Given the description of an element on the screen output the (x, y) to click on. 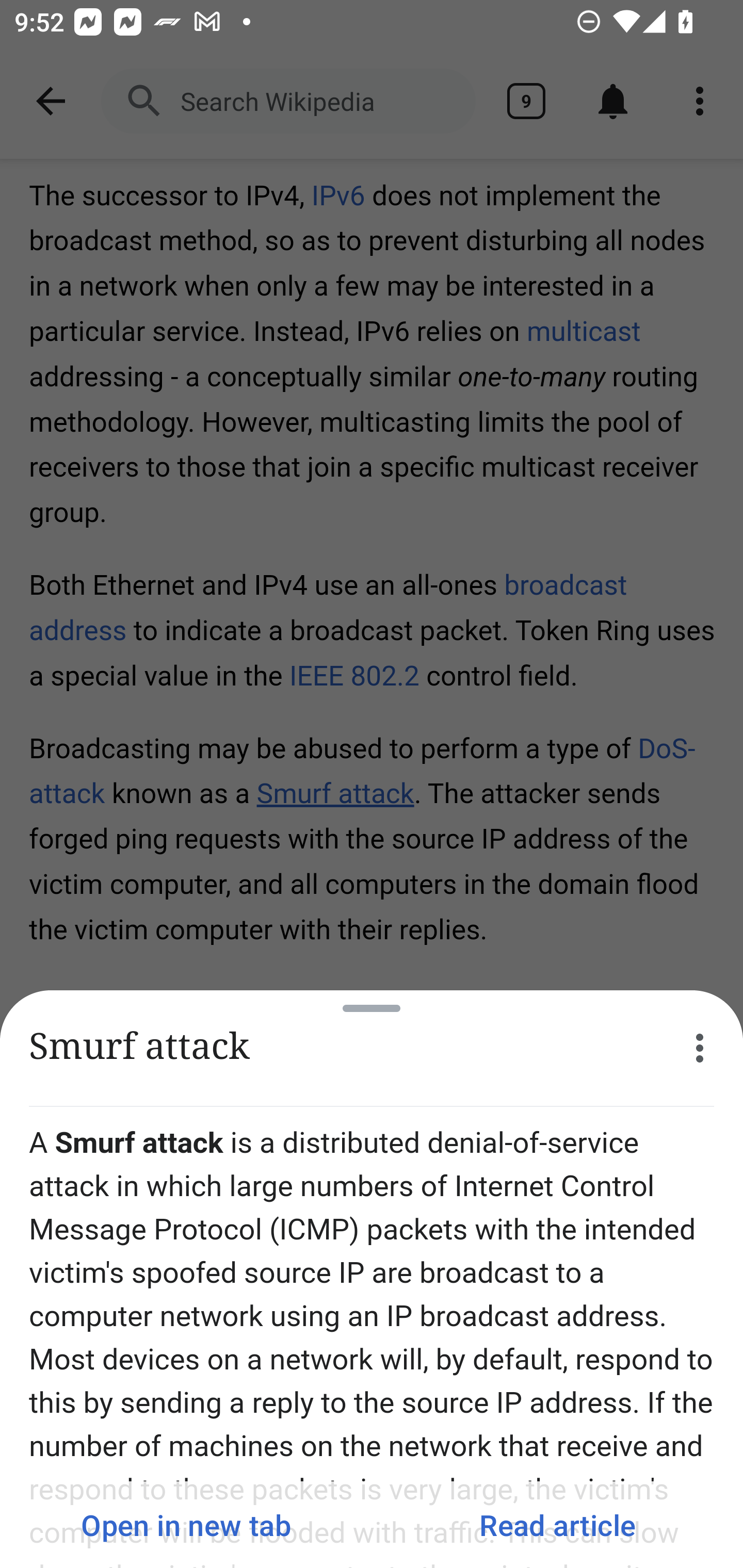
Smurf attack More options (371, 1047)
More options (699, 1048)
Open in new tab (185, 1524)
Read article (557, 1524)
